Given the description of an element on the screen output the (x, y) to click on. 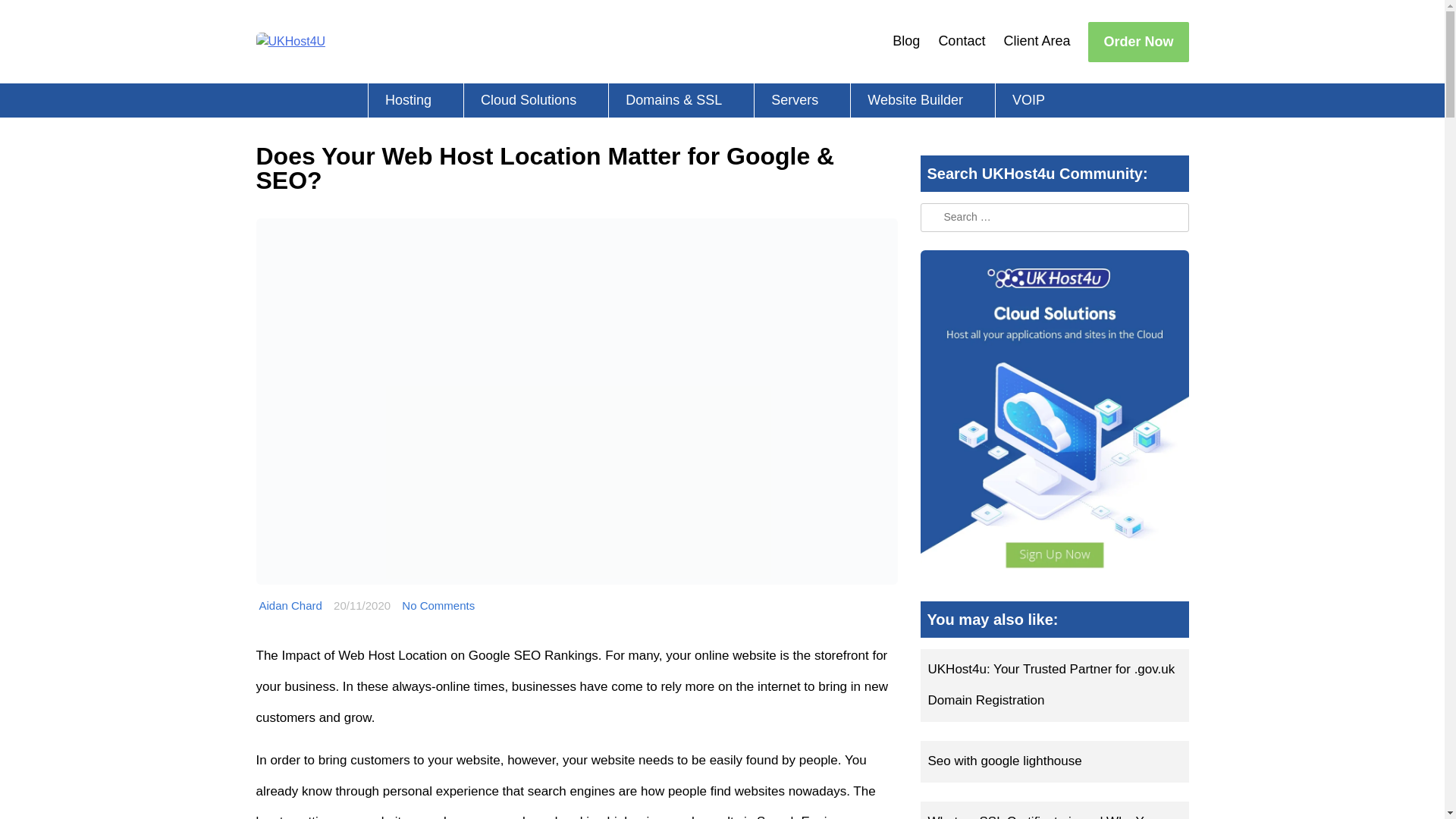
Blog (906, 40)
Contact (961, 40)
Posts by Aidan Chard (290, 604)
Order Now (1137, 41)
Client Area (1036, 40)
